Given the description of an element on the screen output the (x, y) to click on. 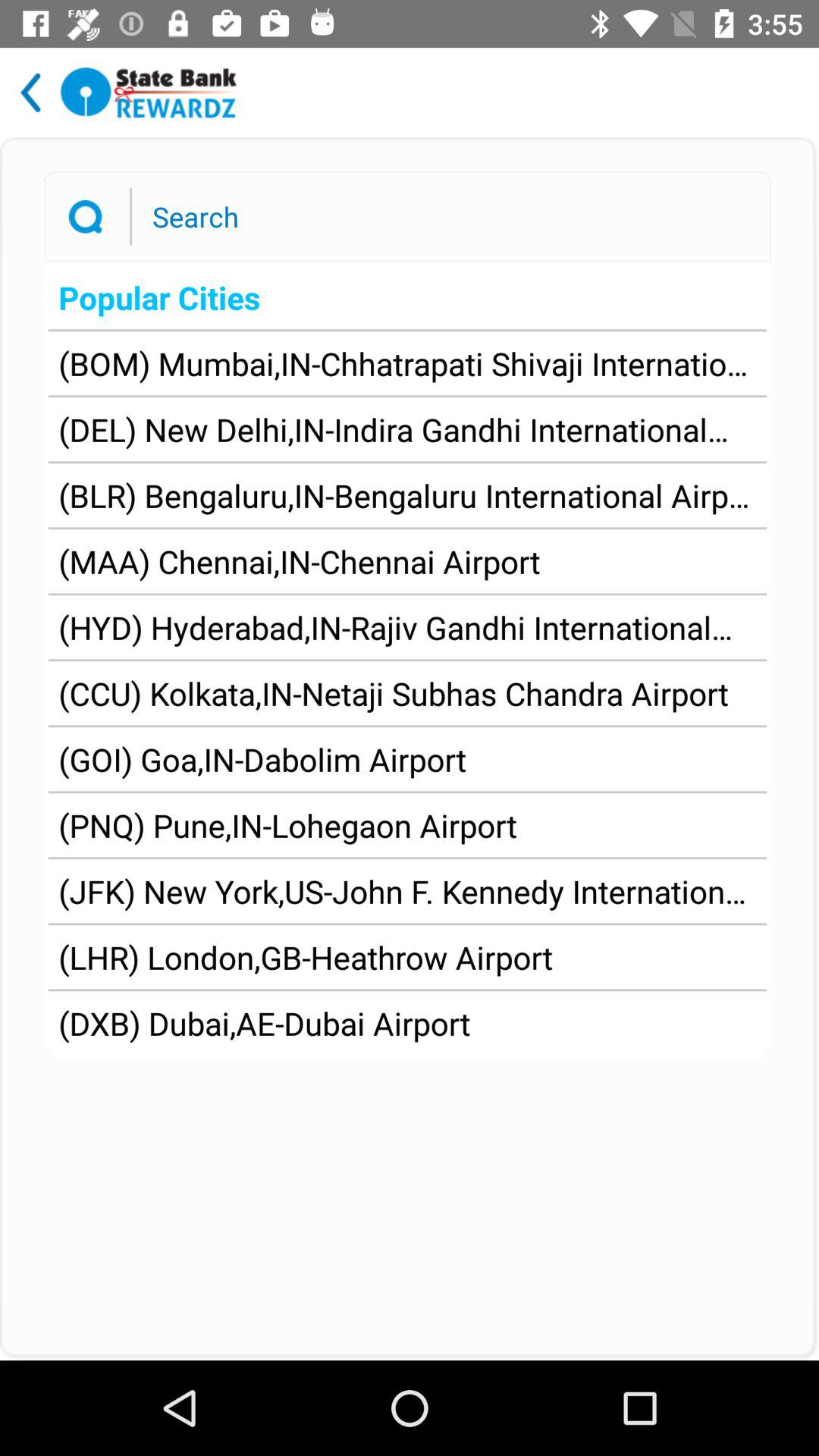
state bank rewardz home (148, 92)
